Given the description of an element on the screen output the (x, y) to click on. 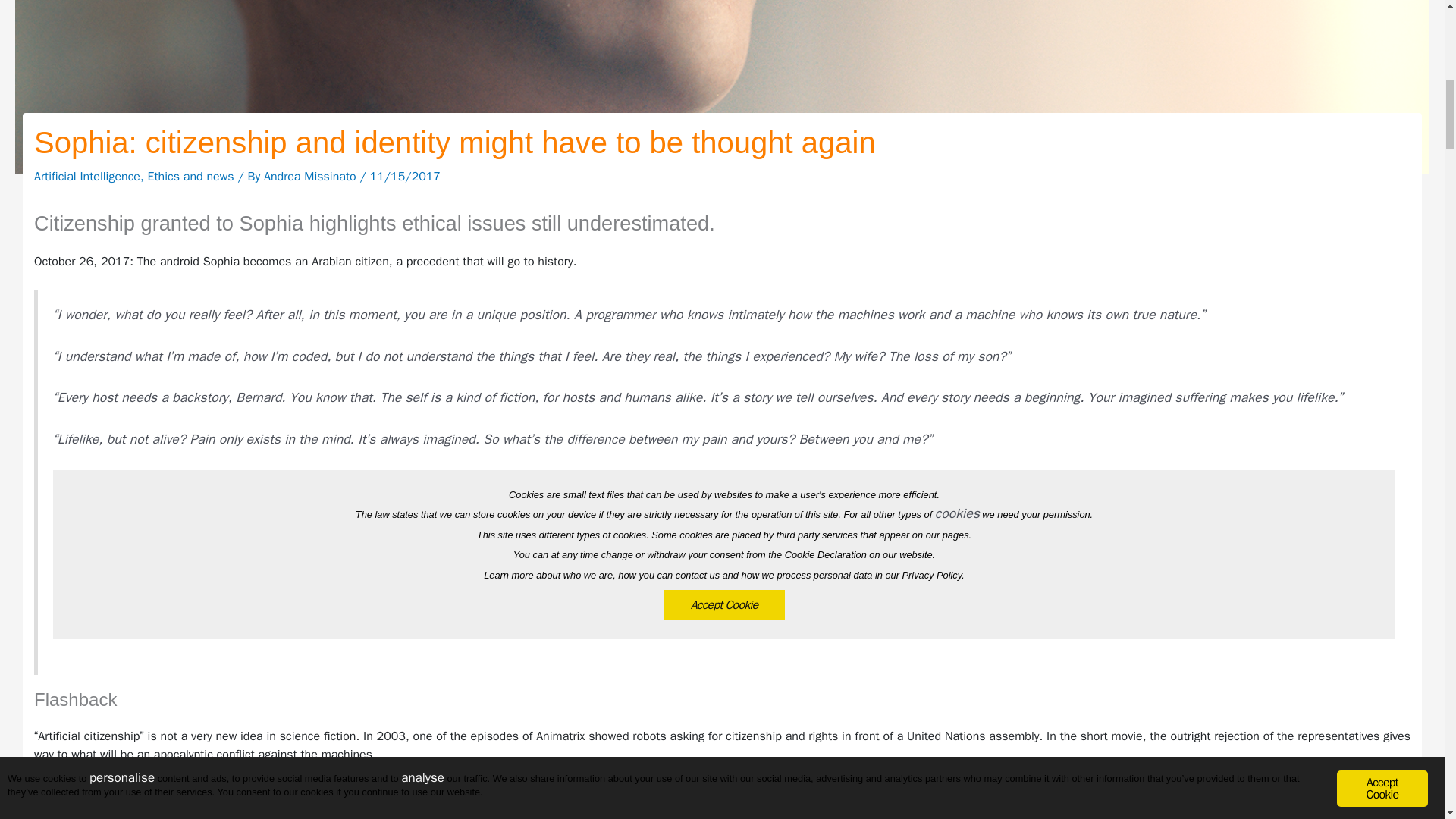
View all posts by Andrea Missinato (311, 176)
